Given the description of an element on the screen output the (x, y) to click on. 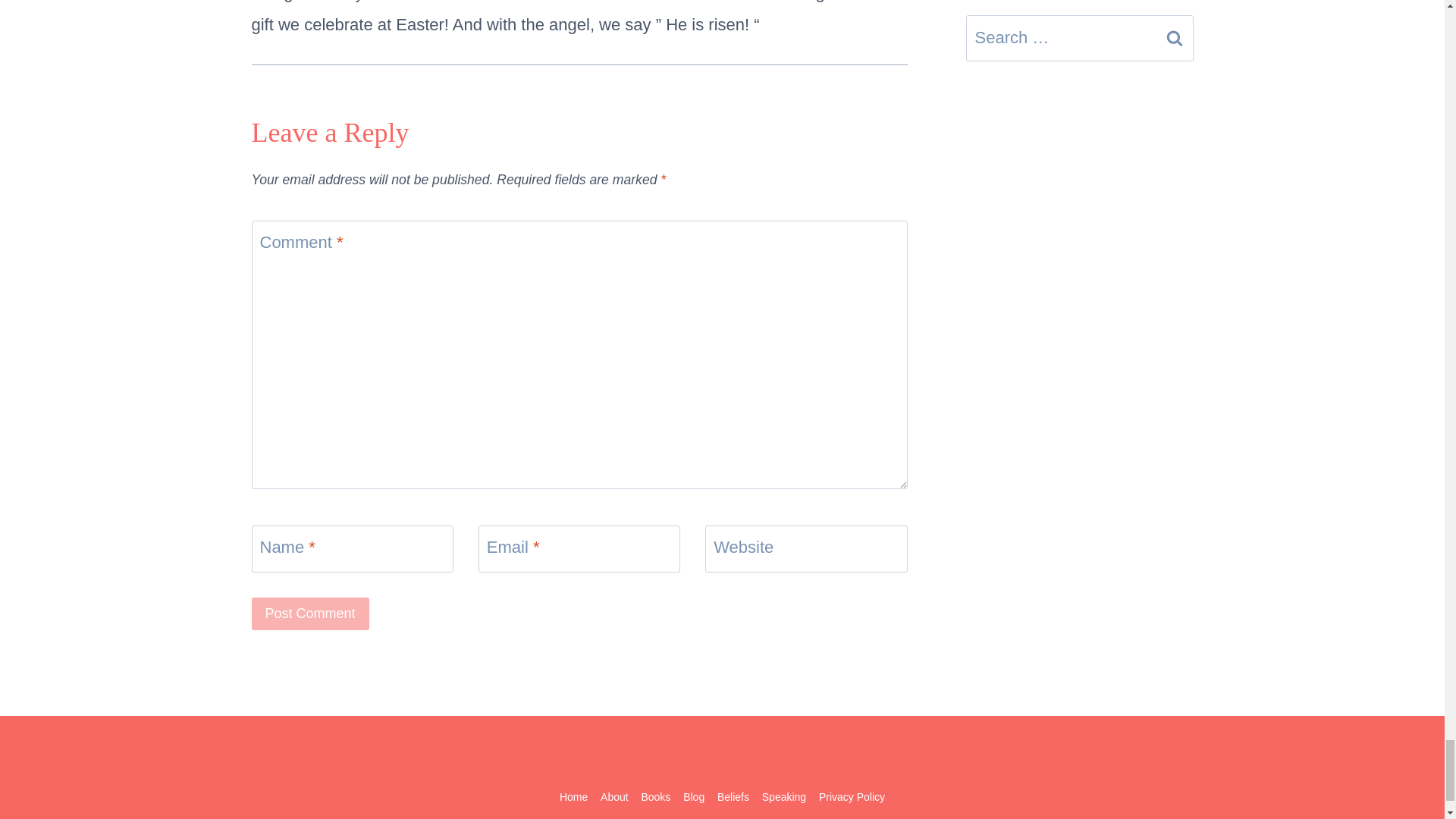
Post Comment (310, 613)
